Given the description of an element on the screen output the (x, y) to click on. 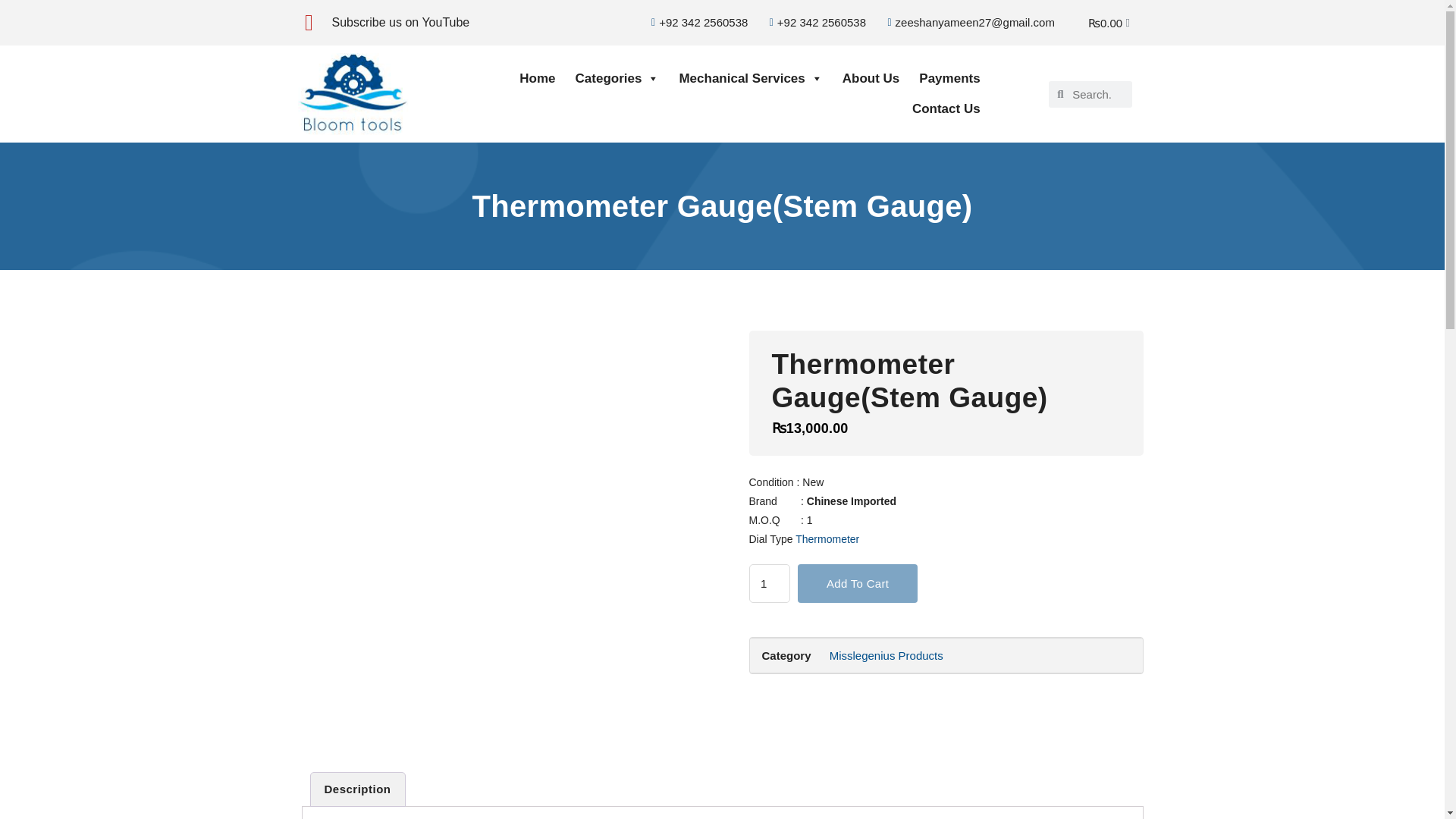
1 (769, 583)
Mechanical Services (749, 78)
Home (536, 78)
Subscribe us on YouTube (400, 21)
Categories (617, 78)
